Given the description of an element on the screen output the (x, y) to click on. 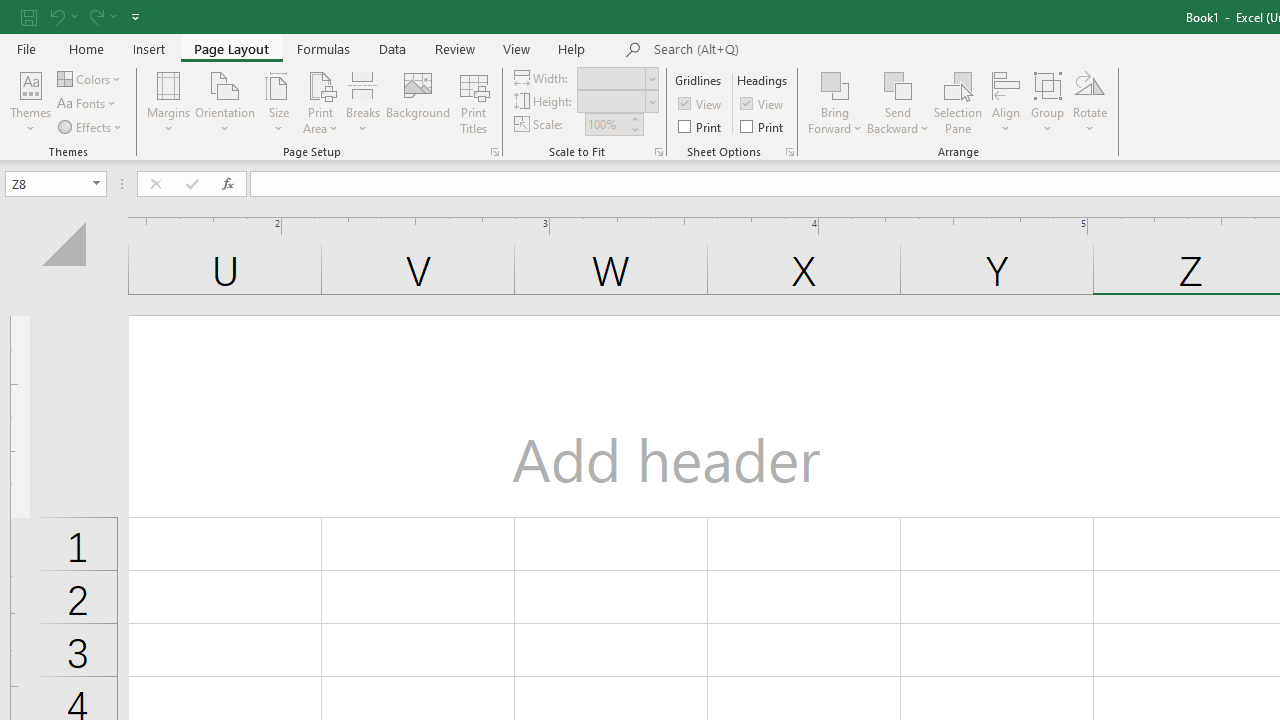
Name Box (56, 183)
Orientation (225, 102)
Align (1005, 102)
Redo (95, 15)
View (763, 103)
Height (618, 101)
Page Layout (230, 48)
Rotate (1089, 102)
System (10, 11)
Quick Access Toolbar (82, 16)
Send Backward (898, 84)
Open (96, 183)
Help (572, 48)
File Tab (26, 48)
Review (454, 48)
